Given the description of an element on the screen output the (x, y) to click on. 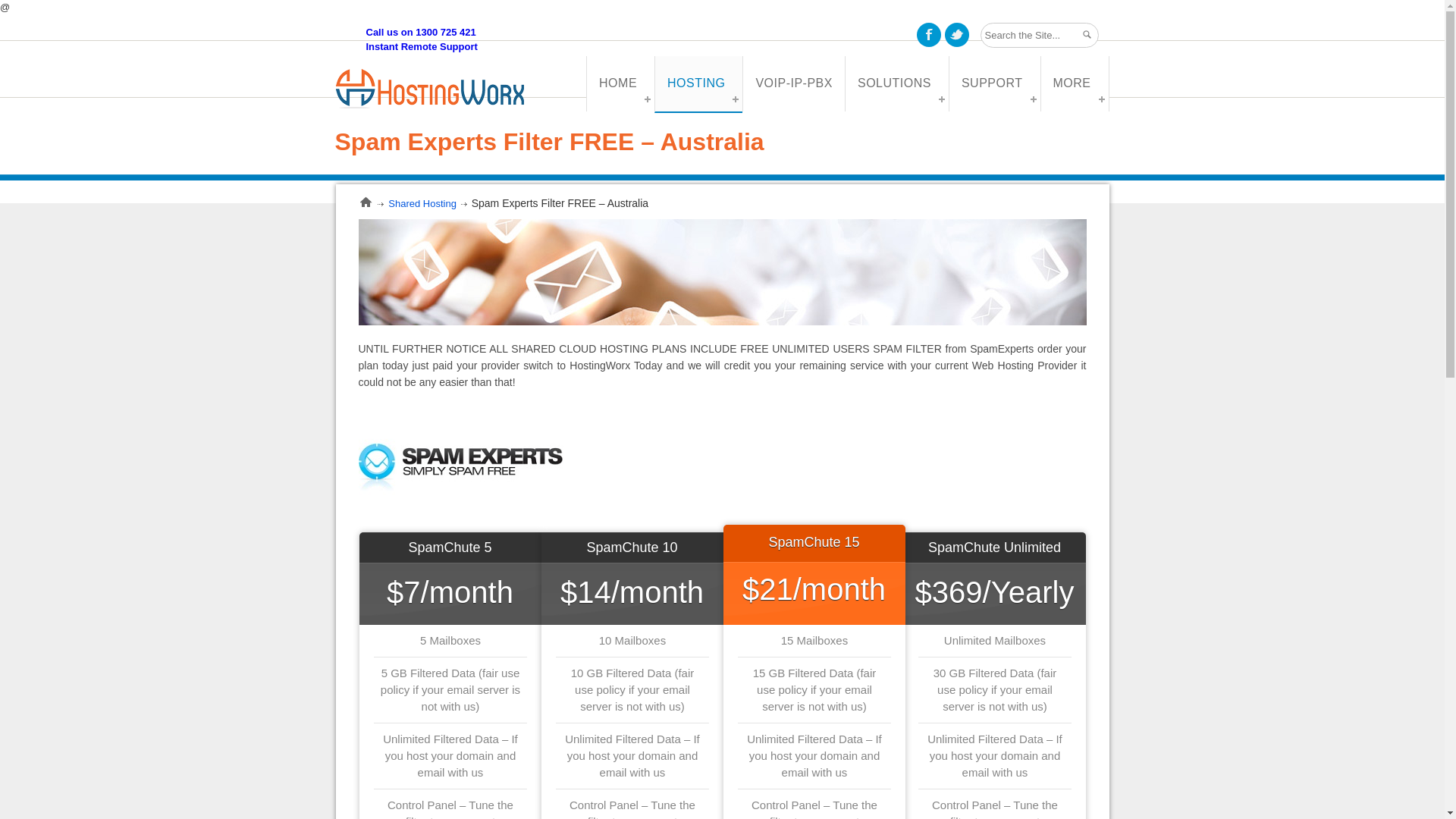
SOLUTIONS Element type: text (896, 83)
MORE Element type: text (1074, 83)
Spam Experts FREE Australia Element type: hover (459, 464)
SUPPORT Element type: text (994, 83)
Instant Remote Support Element type: text (420, 46)
Twitter Element type: text (956, 34)
HOME Element type: text (620, 83)
Call us on 1300 725 421 Element type: text (420, 31)
VOIP-IP-PBX Element type: text (793, 83)
Shared Hosting Element type: text (422, 203)
HOSTING Element type: text (698, 84)
Facebook Element type: text (928, 34)
